Given the description of an element on the screen output the (x, y) to click on. 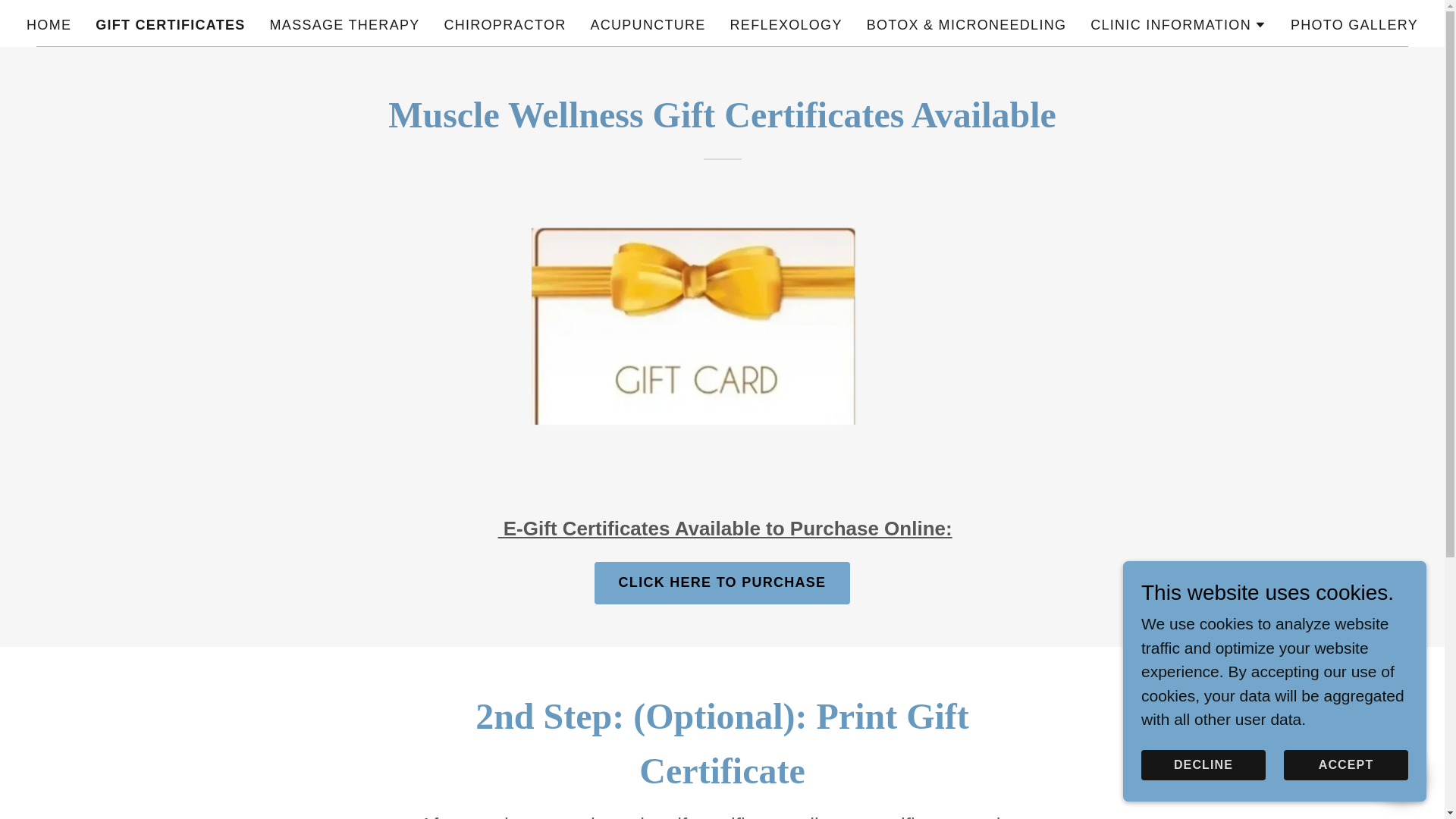
REFLEXOLOGY (786, 24)
CHIROPRACTOR (504, 24)
HOME (48, 24)
CLINIC INFORMATION (1178, 24)
MASSAGE THERAPY (344, 24)
ACUPUNCTURE (647, 24)
GIFT CERTIFICATES (170, 24)
PHOTO GALLERY (1353, 24)
